Given the description of an element on the screen output the (x, y) to click on. 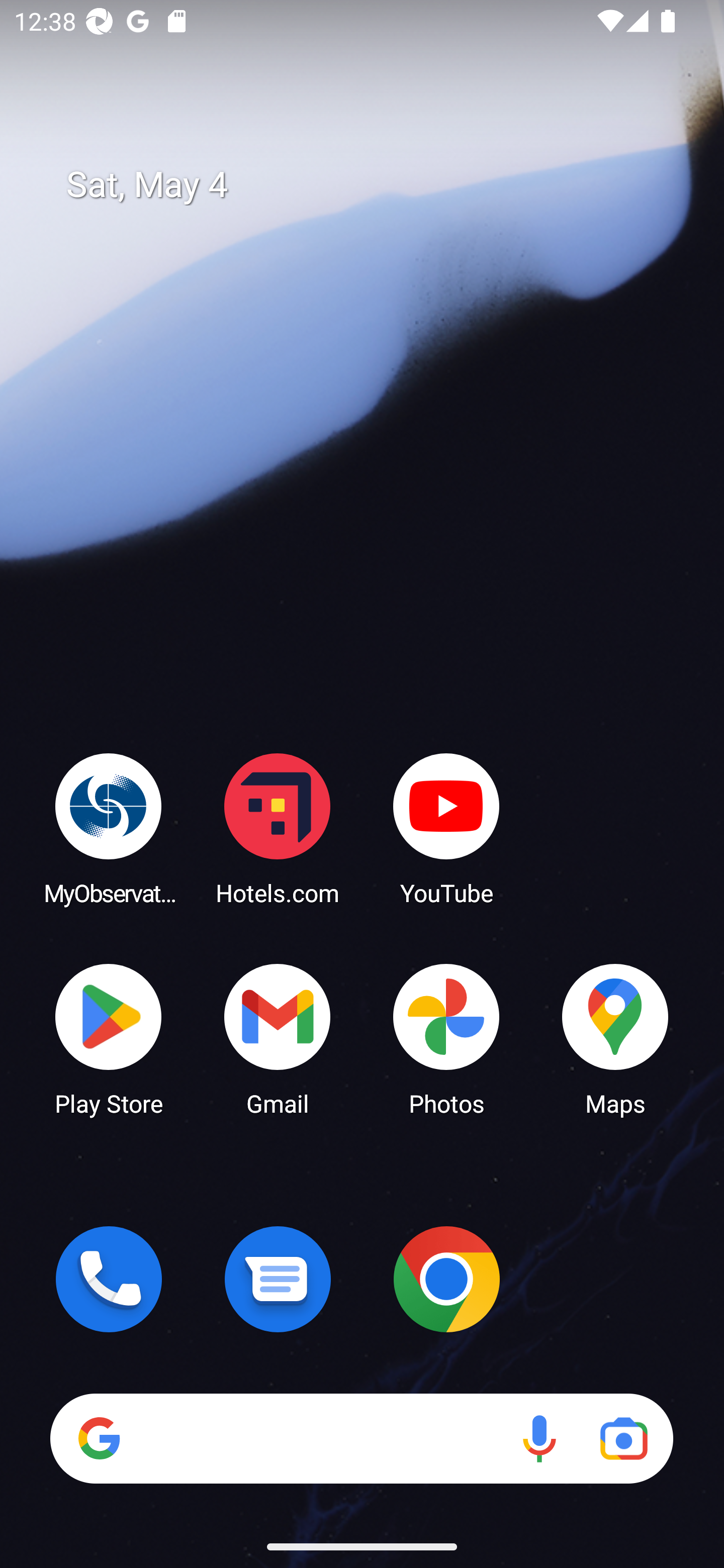
Sat, May 4 (375, 184)
MyObservatory (108, 828)
Hotels.com (277, 828)
YouTube (445, 828)
Play Store (108, 1038)
Gmail (277, 1038)
Photos (445, 1038)
Maps (615, 1038)
Phone (108, 1279)
Messages (277, 1279)
Chrome (446, 1279)
Search Voice search Google Lens (361, 1438)
Voice search (539, 1438)
Google Lens (623, 1438)
